Given the description of an element on the screen output the (x, y) to click on. 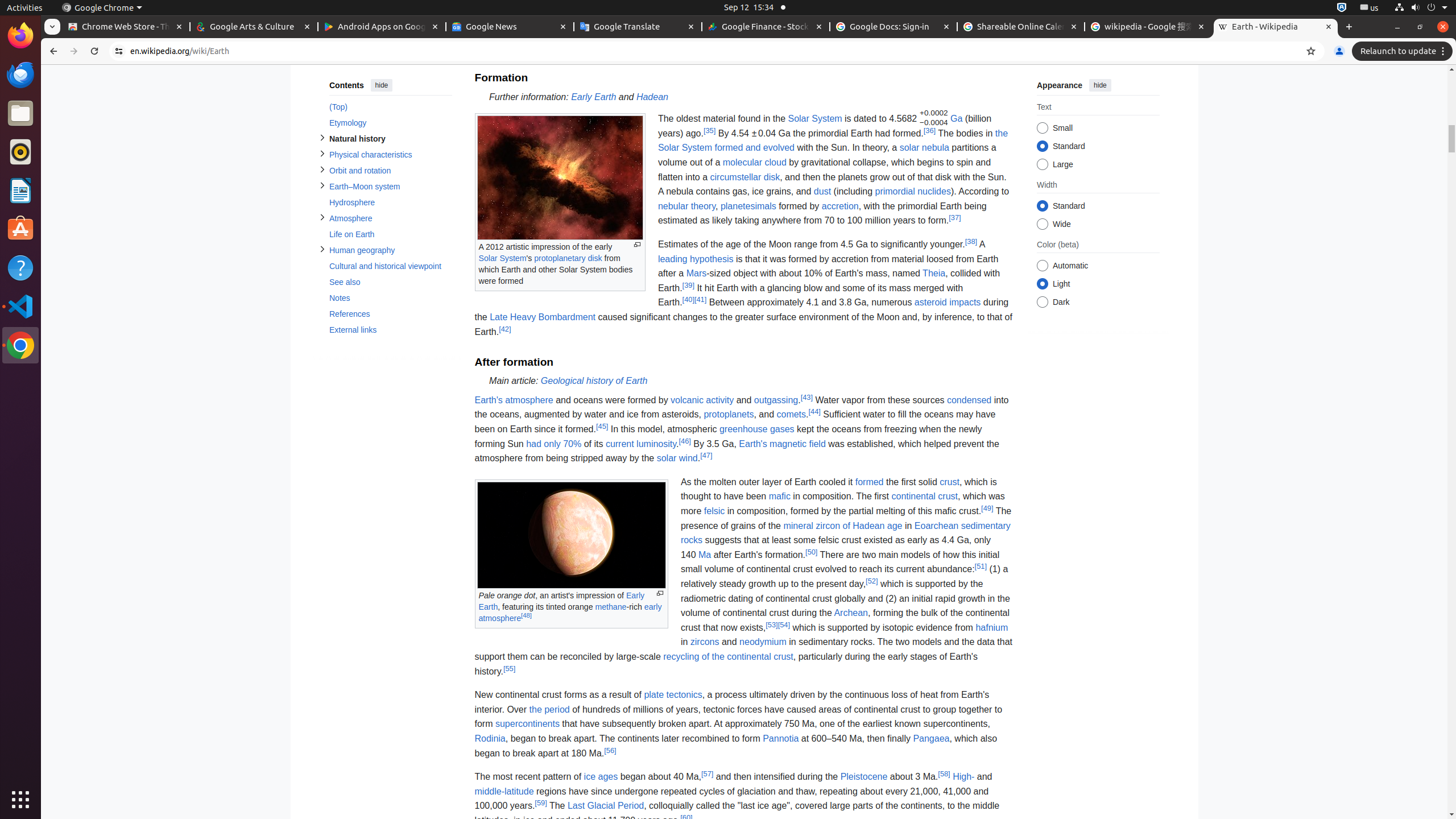
Visual Studio Code Element type: push-button (20, 306)
plate tectonics Element type: link (672, 694)
[47] Element type: link (706, 454)
[58] Element type: link (943, 773)
mafic Element type: link (779, 496)
